Given the description of an element on the screen output the (x, y) to click on. 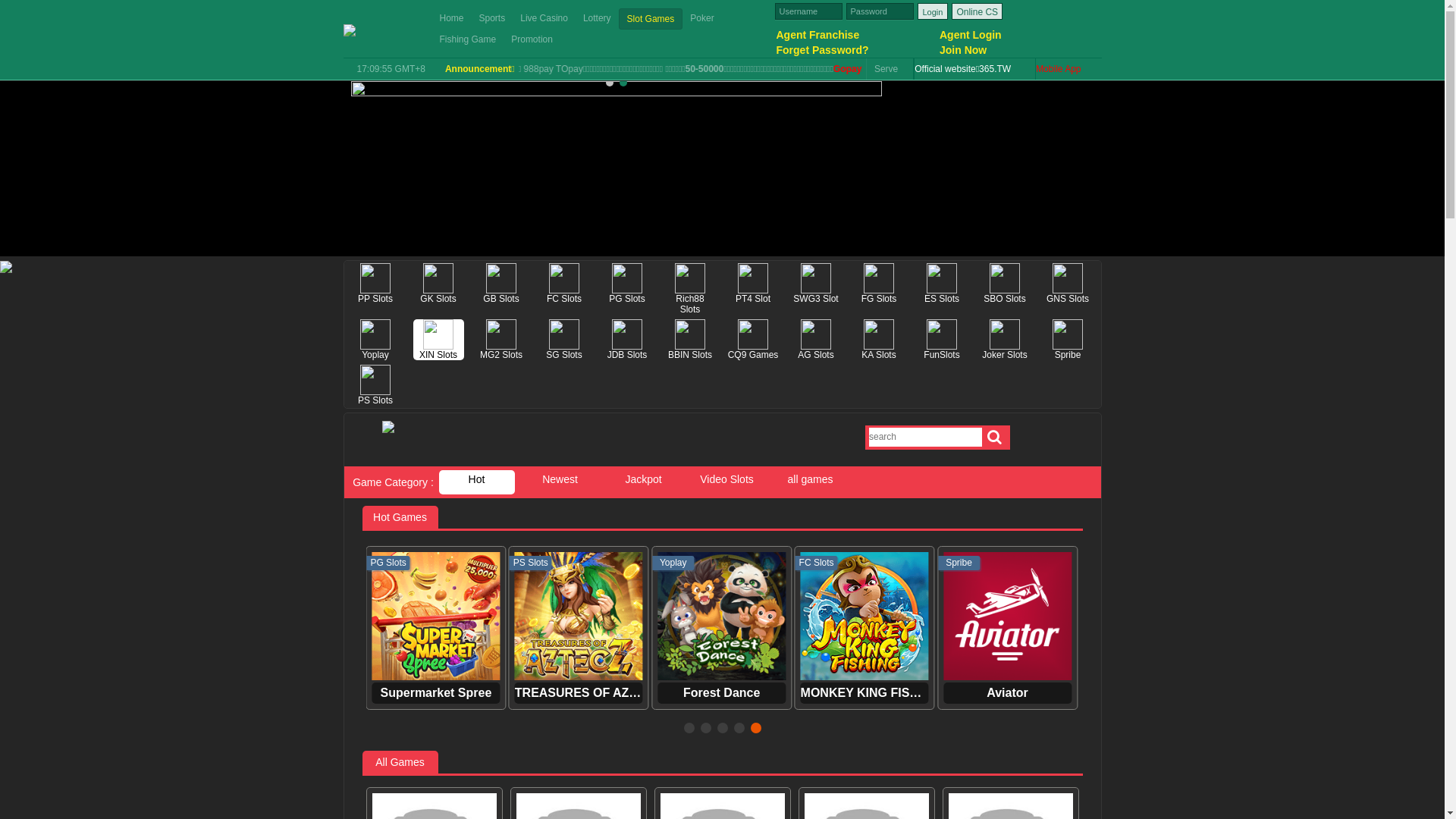
Join Now Element type: text (1019, 49)
Login Element type: text (932, 11)
Sports Element type: text (492, 18)
Serve Element type: text (889, 68)
Lottery Element type: text (596, 18)
Mobile App Element type: text (1068, 68)
Agent Login Element type: text (1019, 34)
Forget Password? Element type: text (856, 49)
Fishing Game Element type: text (468, 39)
Slot Games Element type: text (650, 18)
Agent Franchise Element type: text (856, 34)
search Element type: text (995, 437)
Live Casino Element type: text (543, 18)
Online CS Element type: text (976, 11)
Poker Element type: text (701, 18)
Home Element type: text (451, 18)
Promotion Element type: text (531, 39)
